Given the description of an element on the screen output the (x, y) to click on. 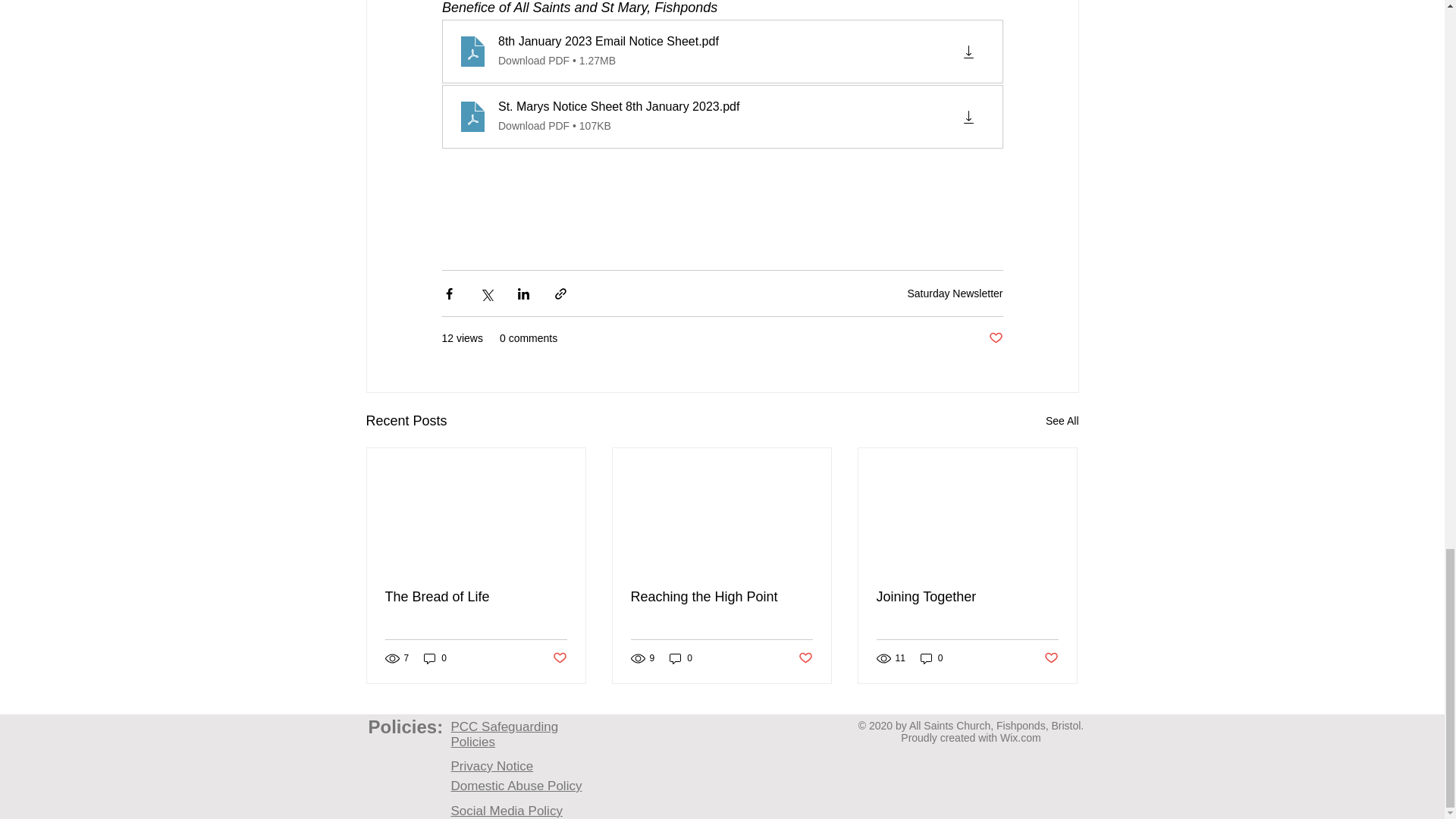
Post not marked as liked (558, 657)
Saturday Newsletter (955, 293)
Post not marked as liked (804, 657)
0 (435, 658)
0 (681, 658)
Post not marked as liked (995, 338)
Reaching the High Point (721, 596)
The Bread of Life (476, 596)
See All (1061, 421)
